Given the description of an element on the screen output the (x, y) to click on. 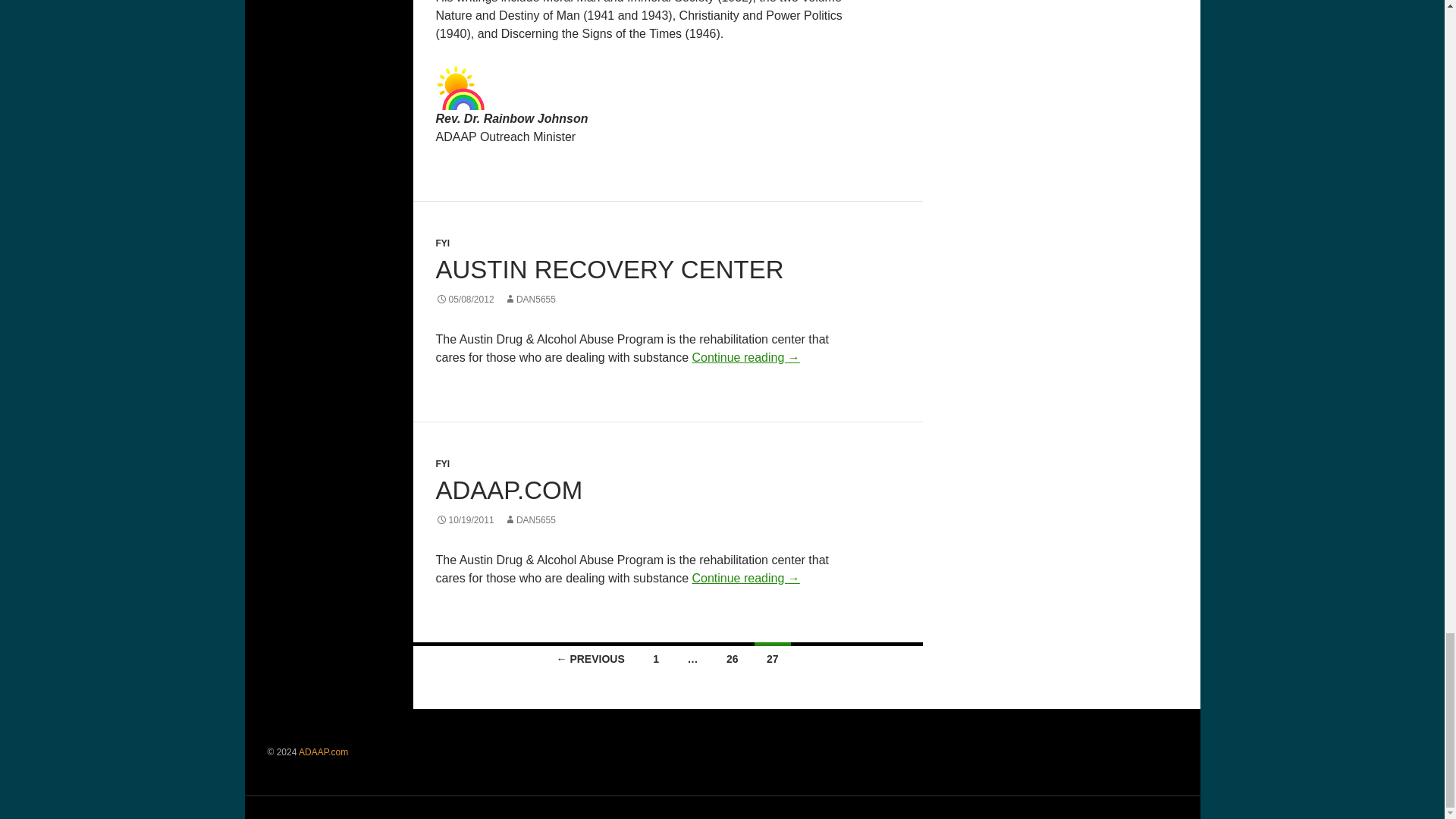
1 (655, 657)
DAN5655 (529, 299)
FYI (442, 463)
ADAAP.com (322, 751)
AUSTIN RECOVERY CENTER (609, 269)
26 (732, 657)
DAN5655 (529, 520)
ADAAP.COM (508, 489)
FYI (442, 243)
